Given the description of an element on the screen output the (x, y) to click on. 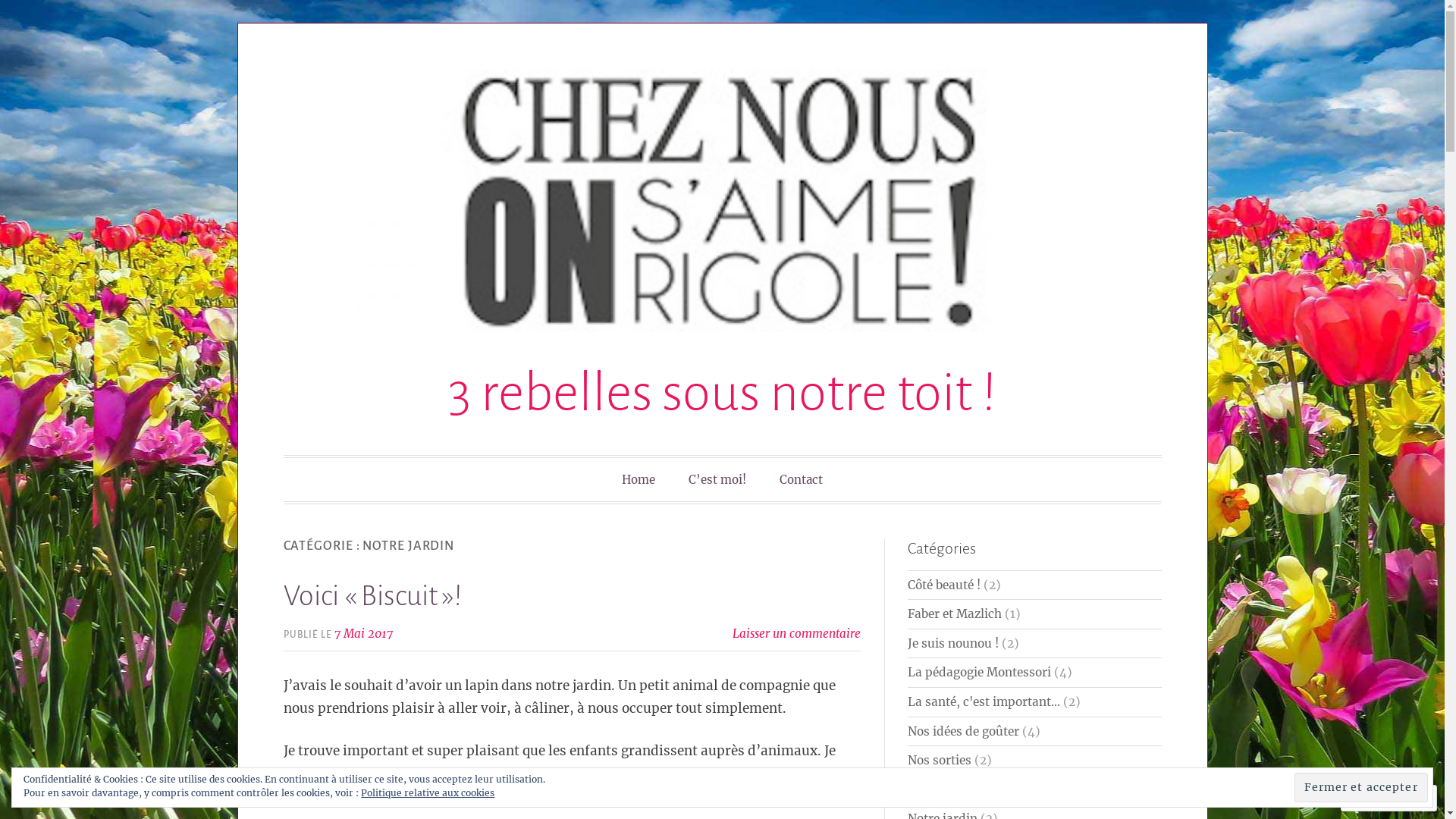
Notre famille Element type: text (944, 789)
Home Element type: text (638, 479)
Laisser un commentaire Element type: text (796, 633)
Suivre Element type: text (1374, 797)
Nos sorties Element type: text (939, 760)
3 rebelles sous notre toit ! Element type: text (722, 392)
7 Mai 2017 Element type: text (363, 633)
Faber et Mazlich Element type: text (954, 613)
Fermer et accepter Element type: text (1360, 787)
Contact Element type: text (800, 479)
Politique relative aux cookies Element type: text (427, 792)
Je suis nounou ! Element type: text (952, 643)
